Given the description of an element on the screen output the (x, y) to click on. 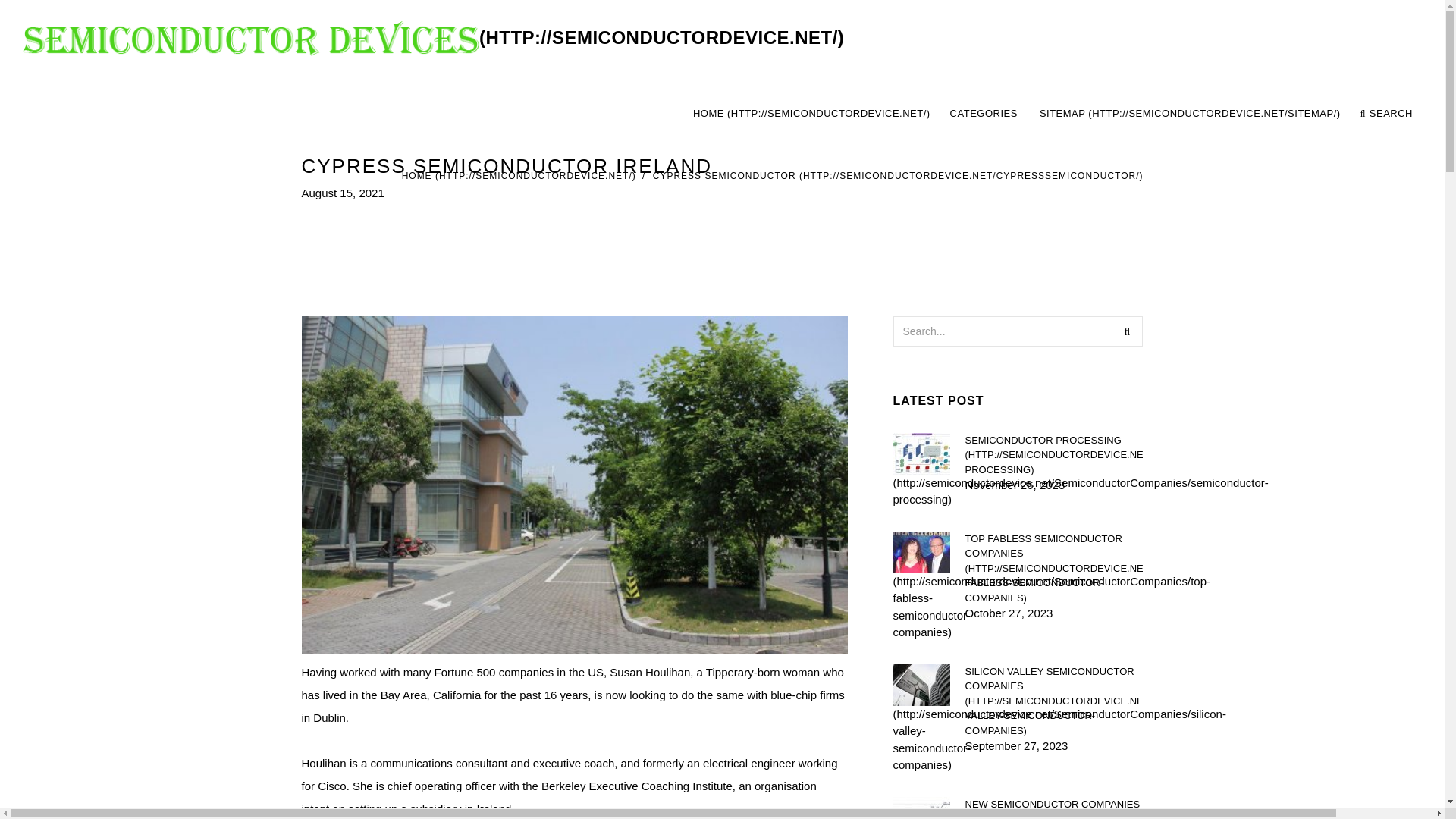
HOME (811, 113)
SITEMAP (1189, 113)
HOME (518, 175)
SEARCH (1386, 113)
CYPRESS SEMICONDUCTOR (897, 175)
Search (1126, 330)
SEMICONDUCTOR PROCESSING (1052, 454)
CATEGORIES (1052, 113)
NEW SEMICONDUCTOR COMPANIES (984, 113)
TOP FABLESS SEMICONDUCTOR COMPANIES (1052, 807)
Semiconductor devices (1052, 567)
SILICON VALLEY SEMICONDUCTOR COMPANIES (433, 38)
